Given the description of an element on the screen output the (x, y) to click on. 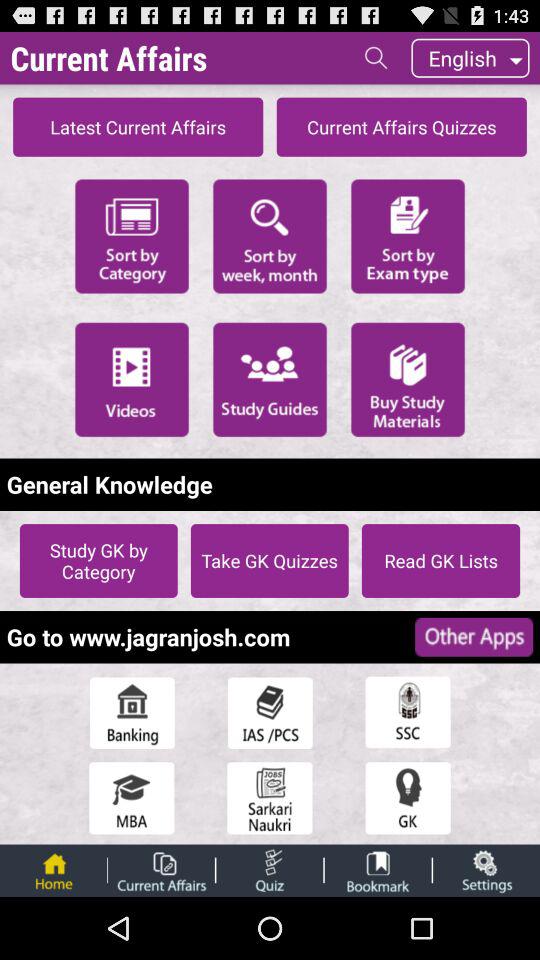
ssc (407, 712)
